Given the description of an element on the screen output the (x, y) to click on. 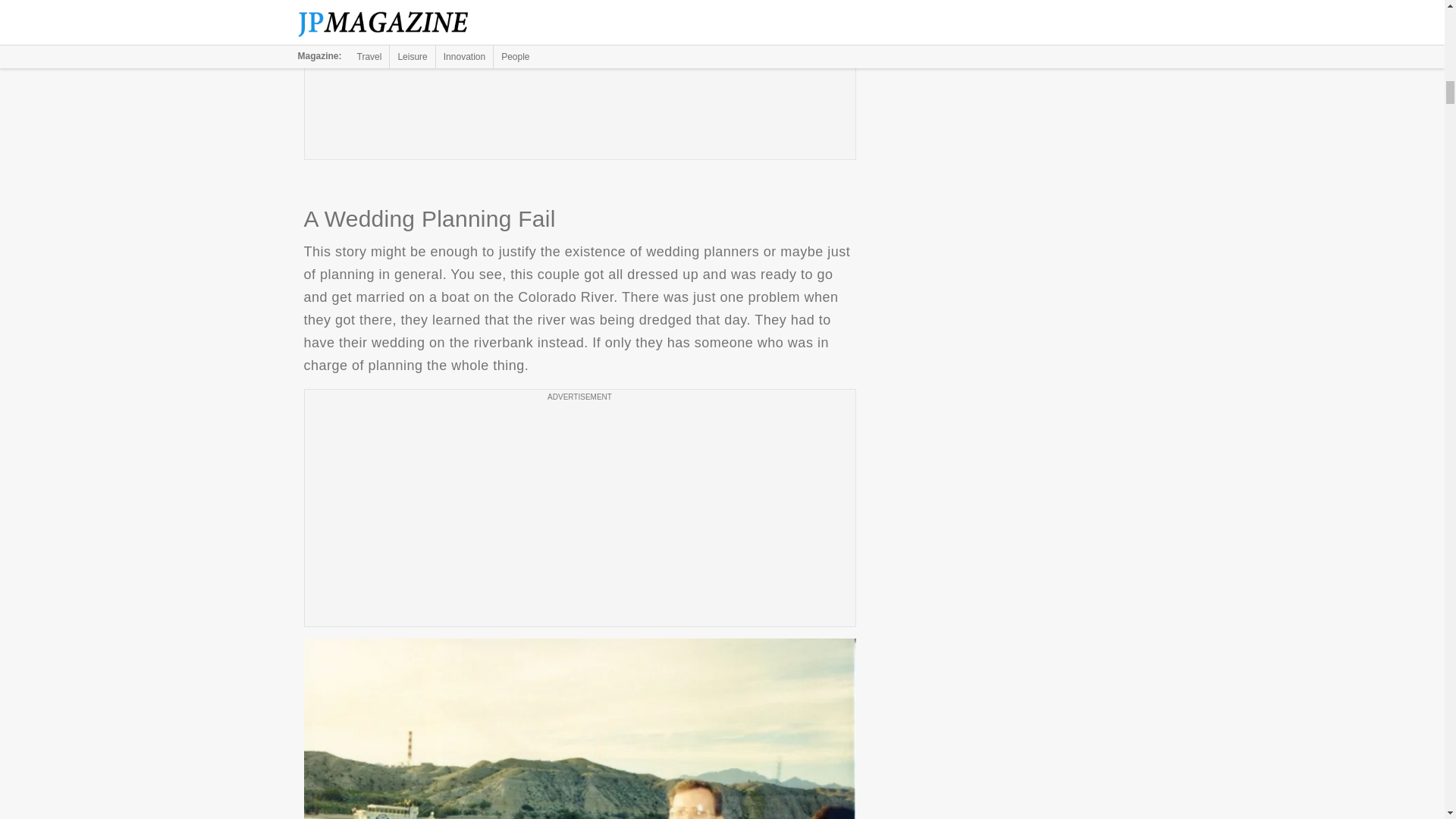
A Wedding Planning Fail (579, 728)
